Given the description of an element on the screen output the (x, y) to click on. 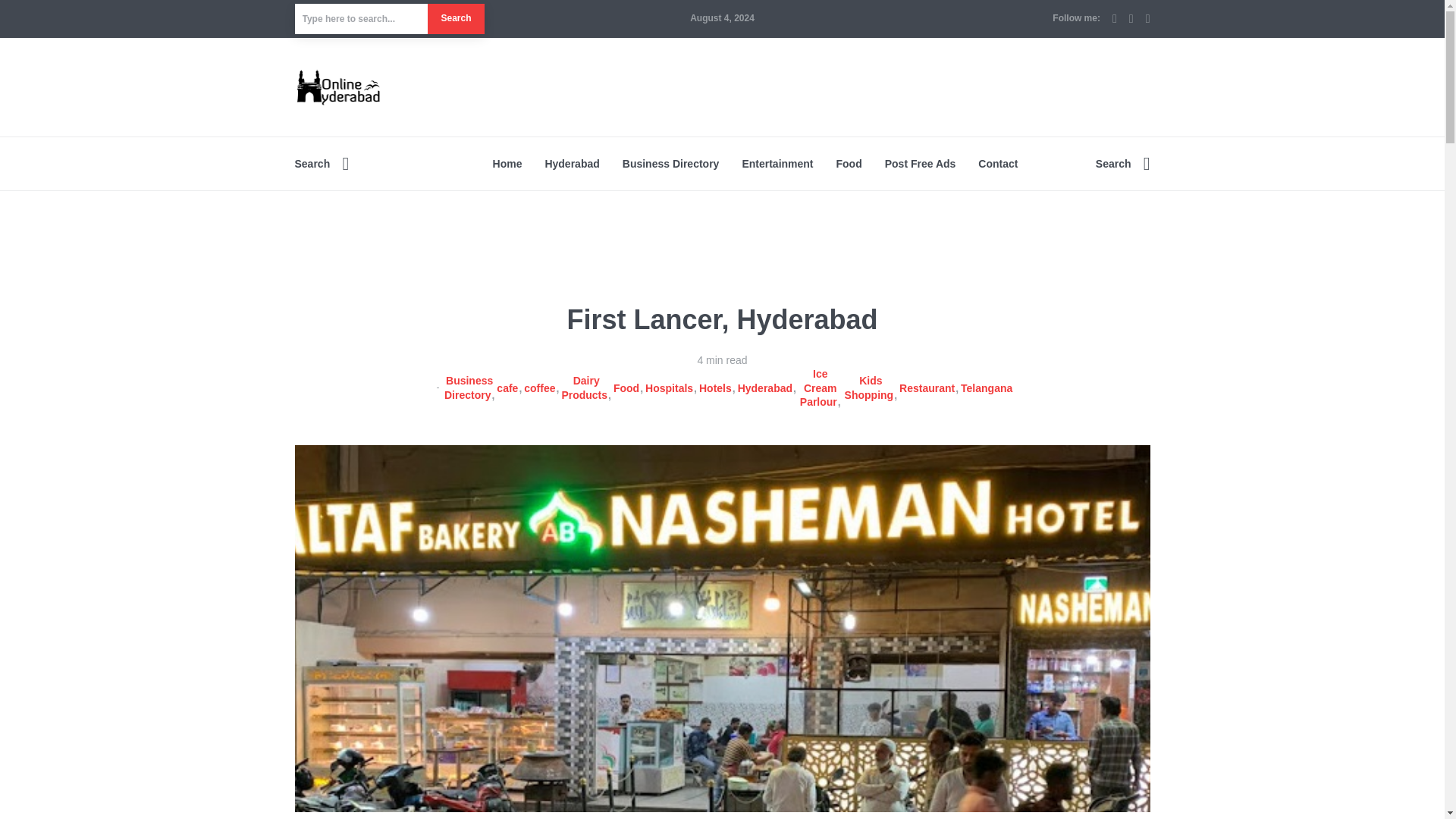
Business Directory (469, 387)
Business Directory (671, 163)
Hyderabad (571, 163)
Post Free Ads (920, 163)
Search (1123, 163)
cafe (508, 387)
Search (455, 19)
Contact (997, 163)
Entertainment (776, 163)
Search (321, 163)
